Given the description of an element on the screen output the (x, y) to click on. 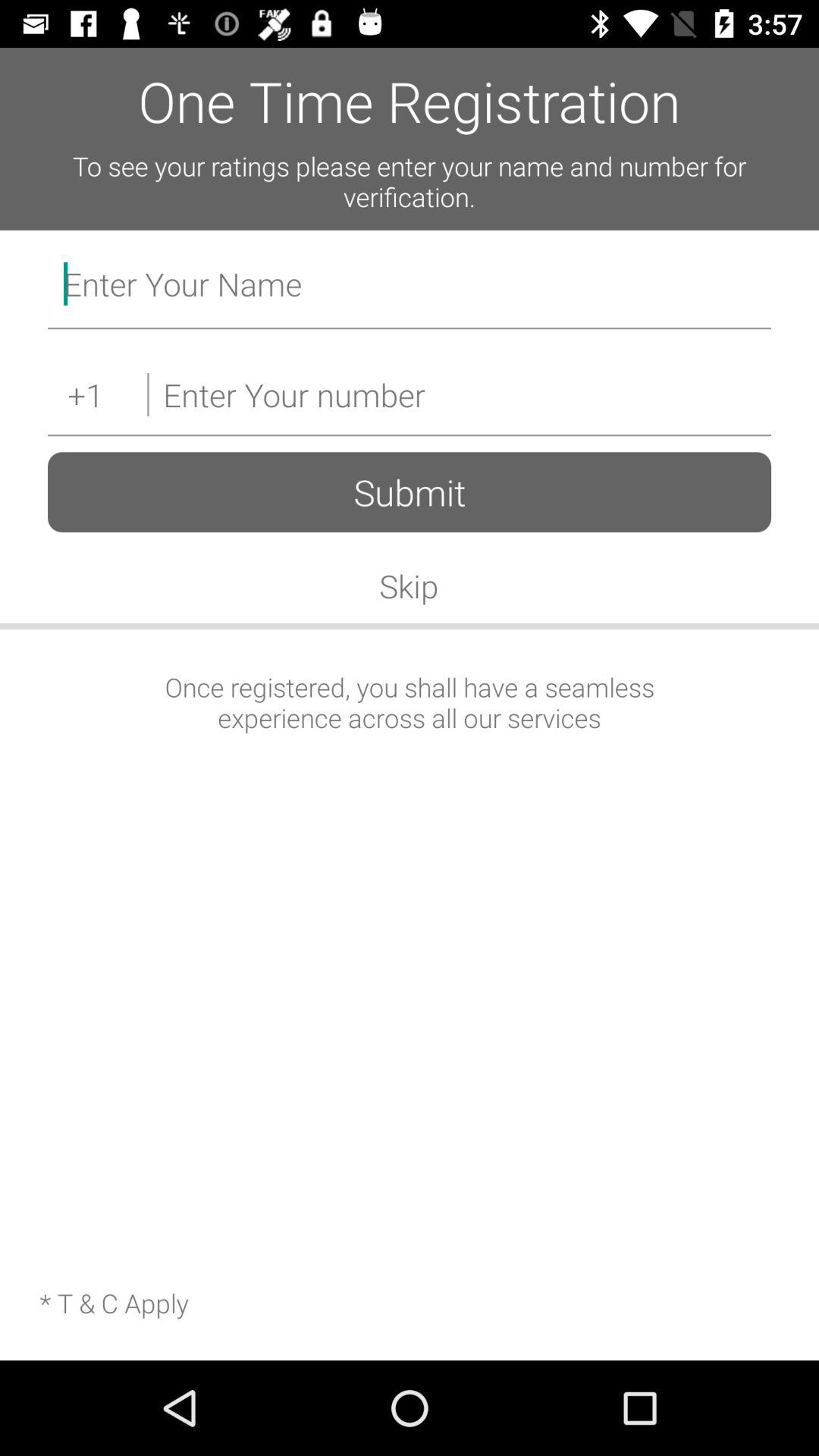
turn off the icon below submit (408, 585)
